Given the description of an element on the screen output the (x, y) to click on. 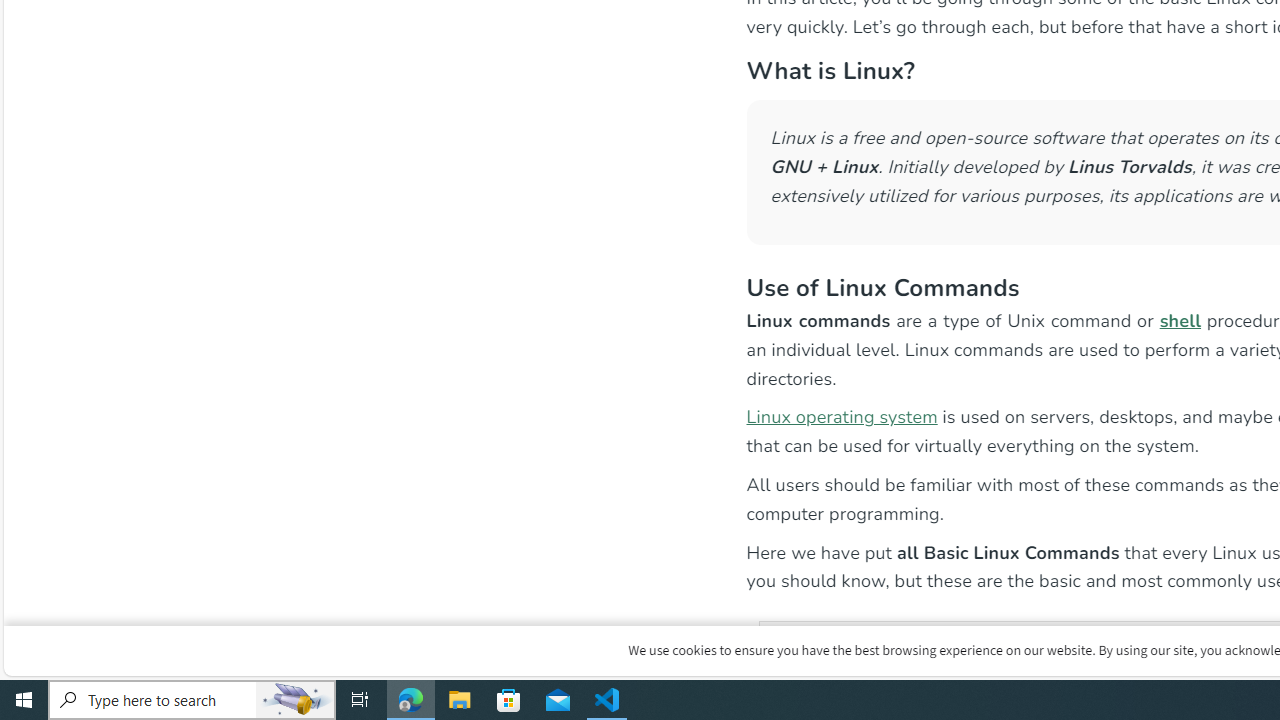
Linux operating system (842, 416)
Lightbox (1272, 13)
shell (1179, 320)
